Given the description of an element on the screen output the (x, y) to click on. 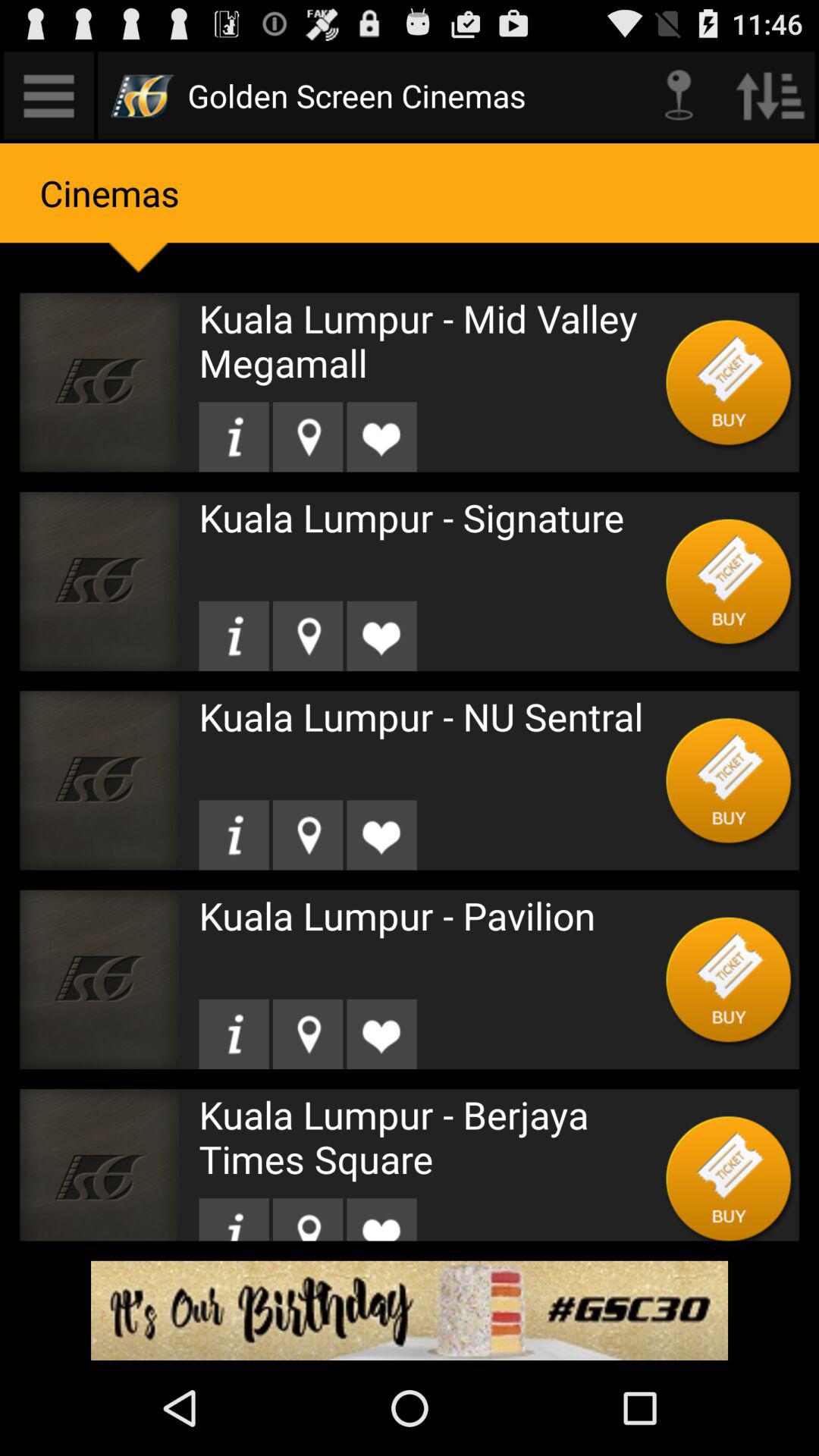
find location (307, 636)
